Given the description of an element on the screen output the (x, y) to click on. 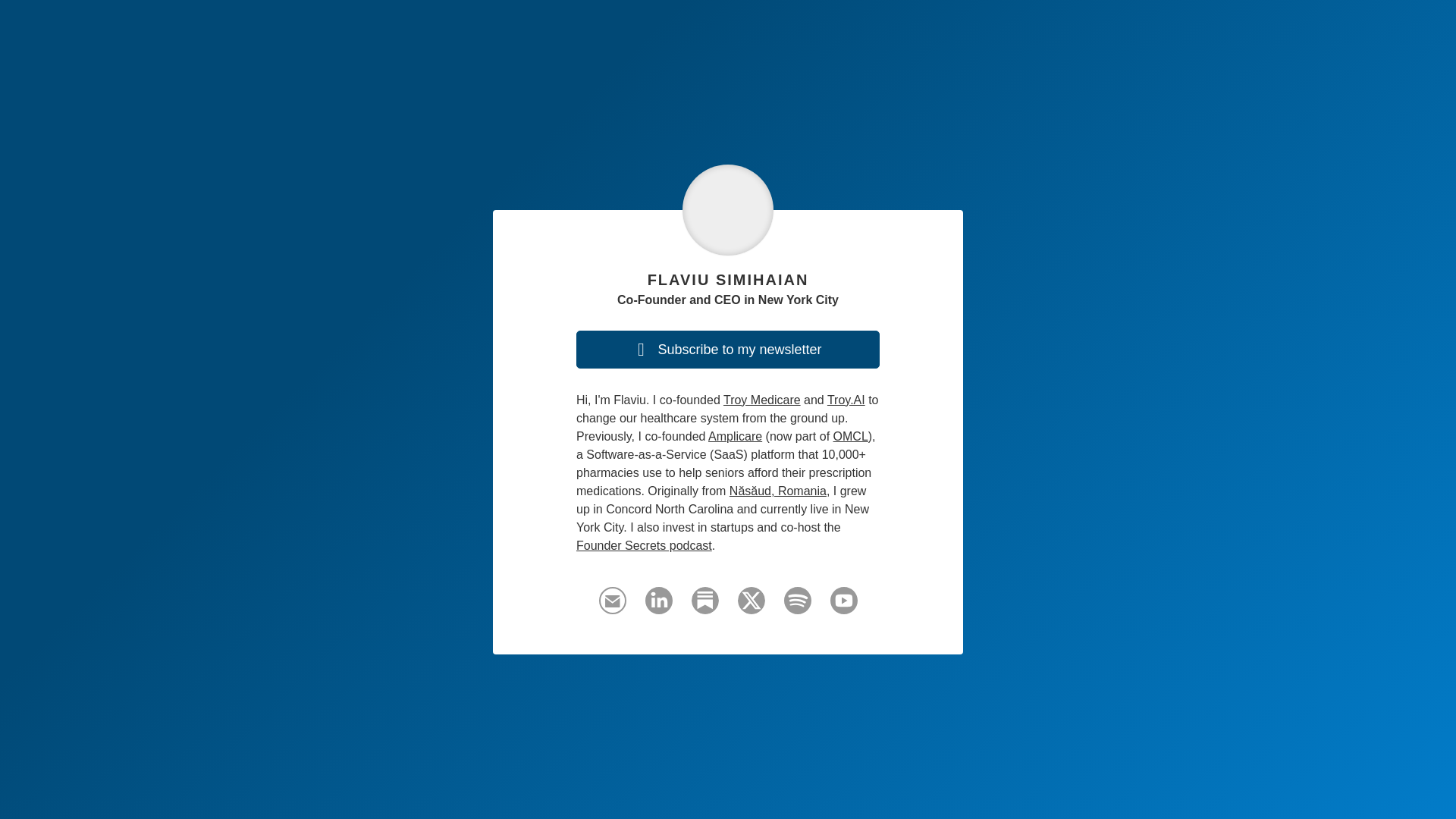
Amplicare (734, 436)
Visit me on Spotify (797, 606)
Send me a message (612, 600)
Subscribe to my newsletter (727, 349)
Visit me on Twitter (750, 606)
Visit me on LinkedIn (658, 606)
Founder Secrets podcast (643, 545)
Troy Medicare (761, 399)
Visit me on Substack (705, 606)
Visit me on YouTube (843, 606)
Troy.AI (845, 399)
OMCL (849, 436)
